Given the description of an element on the screen output the (x, y) to click on. 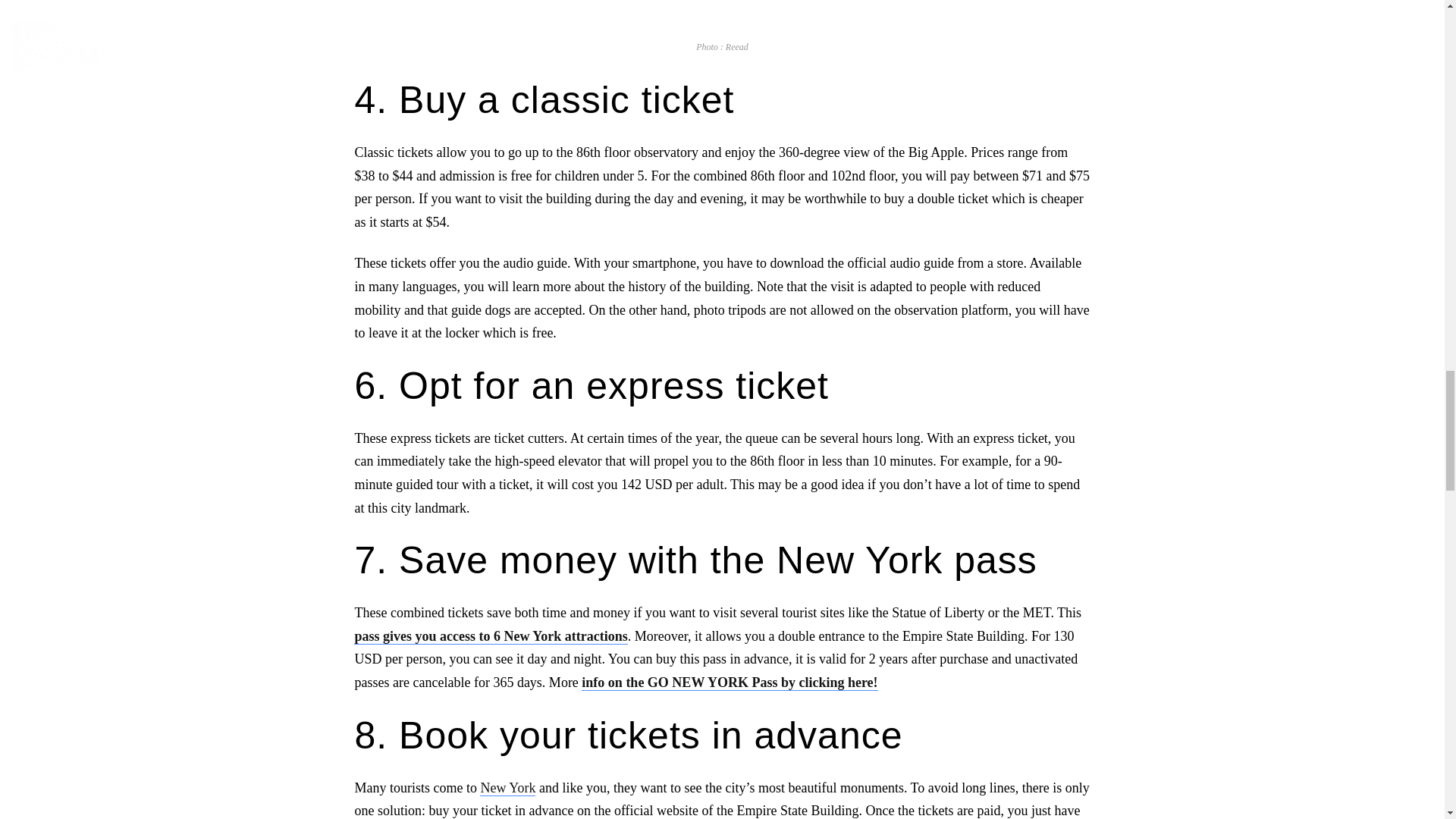
New York (507, 787)
